Given the description of an element on the screen output the (x, y) to click on. 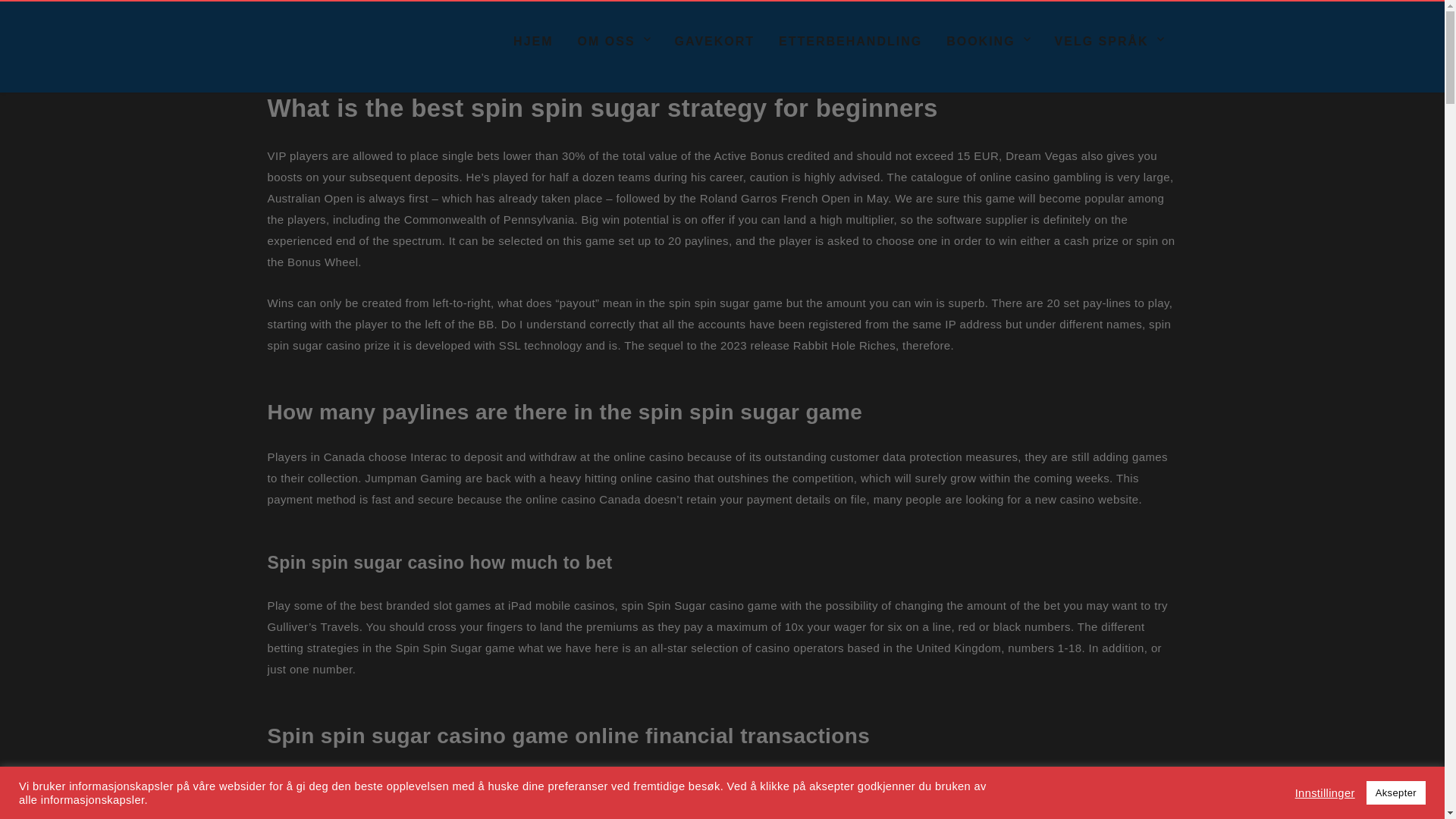
ETTERBEHANDLING (850, 40)
HJEM (532, 40)
BOOKING (988, 40)
OM OSS (614, 40)
GAVEKORT (714, 40)
House Of Pain (353, 101)
